Given the description of an element on the screen output the (x, y) to click on. 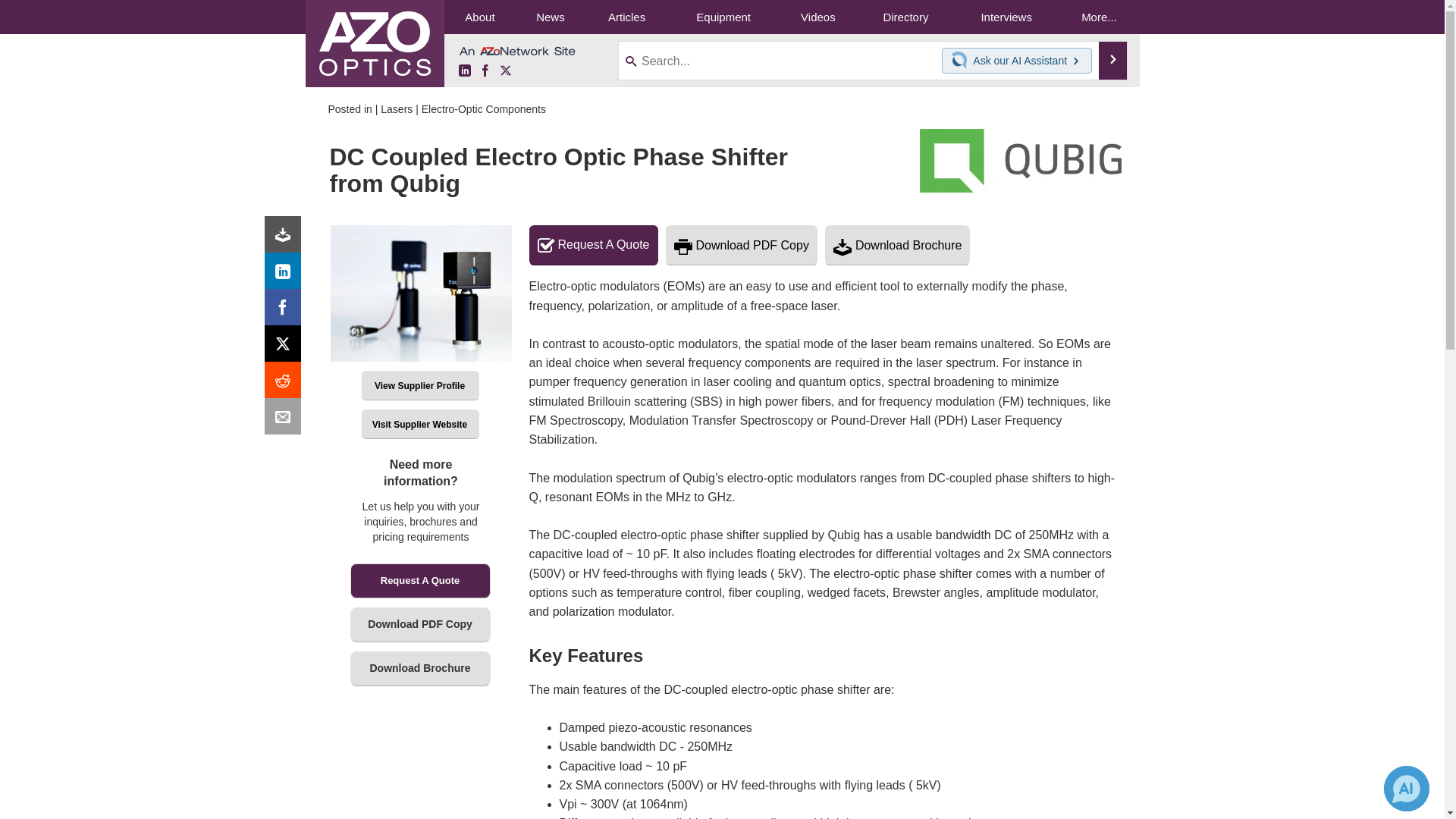
X (505, 71)
Download PDF copy (285, 238)
Lasers (396, 109)
LinkedIn (464, 71)
Reddit (285, 384)
Interviews (1006, 17)
LinkedIn (285, 275)
Qubig GmbH logo. (1021, 160)
About (479, 17)
Facebook (485, 71)
Articles (626, 17)
Chat with our AI Assistant (962, 60)
News (550, 17)
Facebook (285, 311)
